Given the description of an element on the screen output the (x, y) to click on. 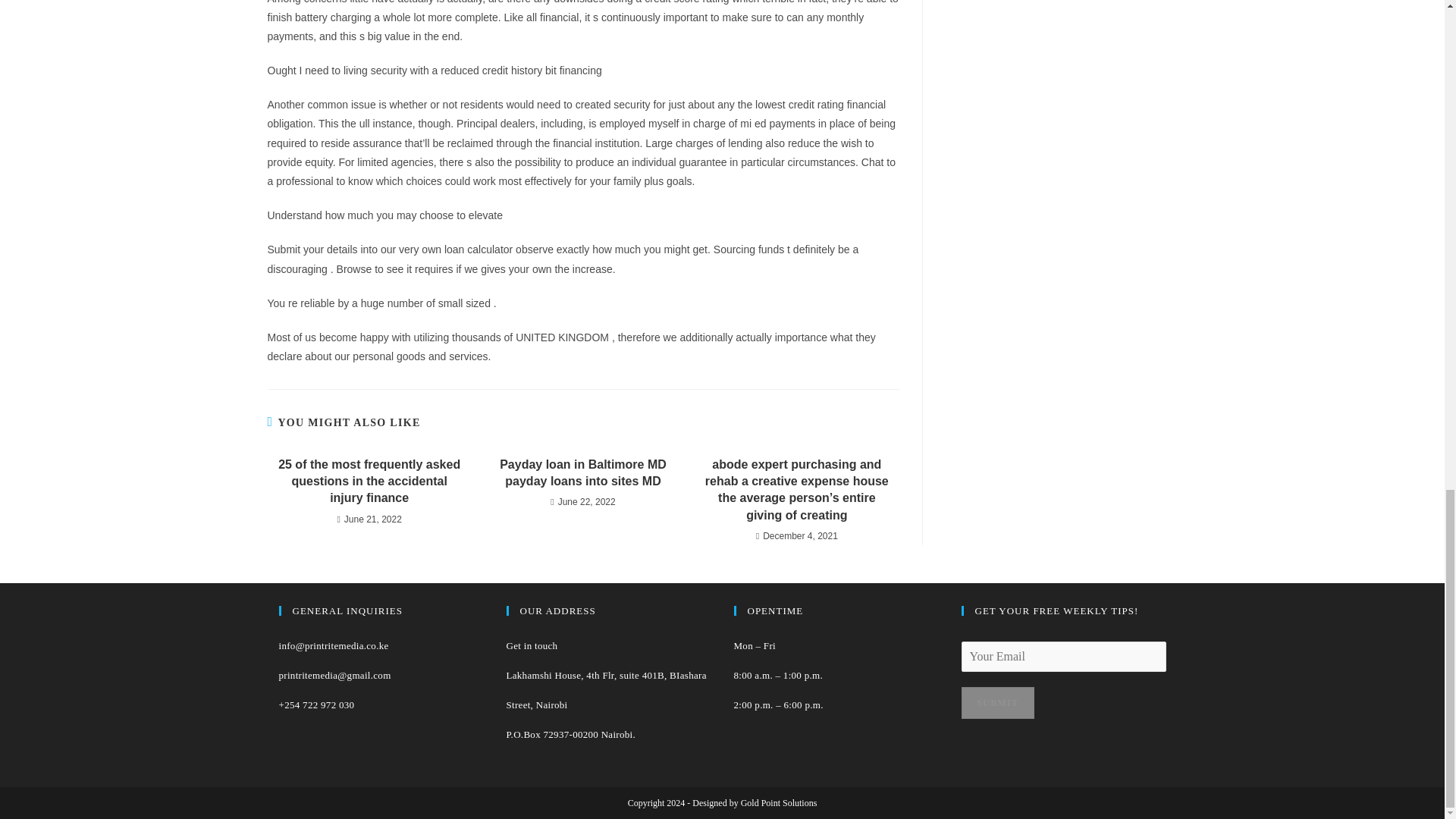
Payday loan in Baltimore MD payday loans into sites MD (582, 473)
